Given the description of an element on the screen output the (x, y) to click on. 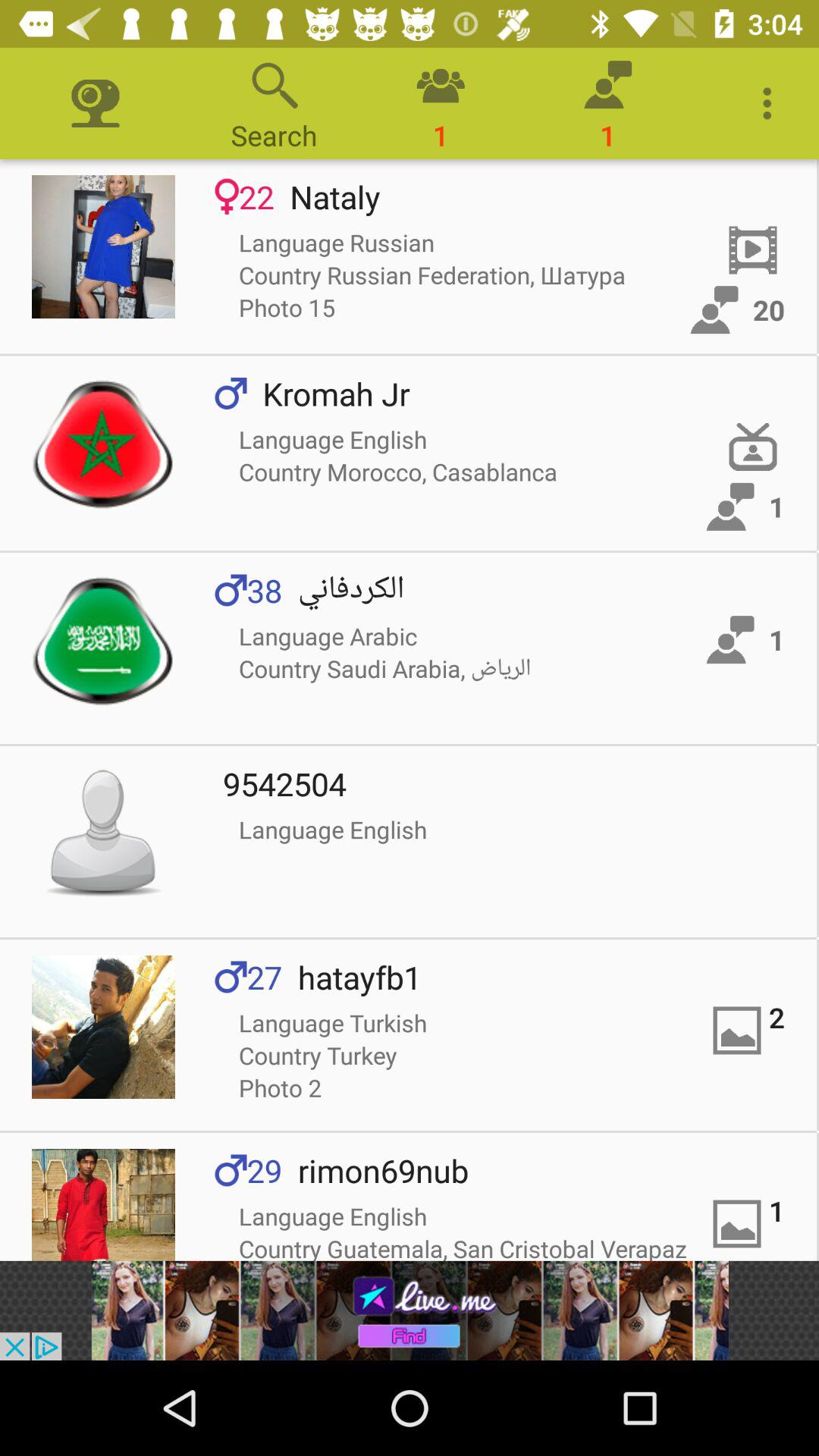
read details (103, 246)
